Given the description of an element on the screen output the (x, y) to click on. 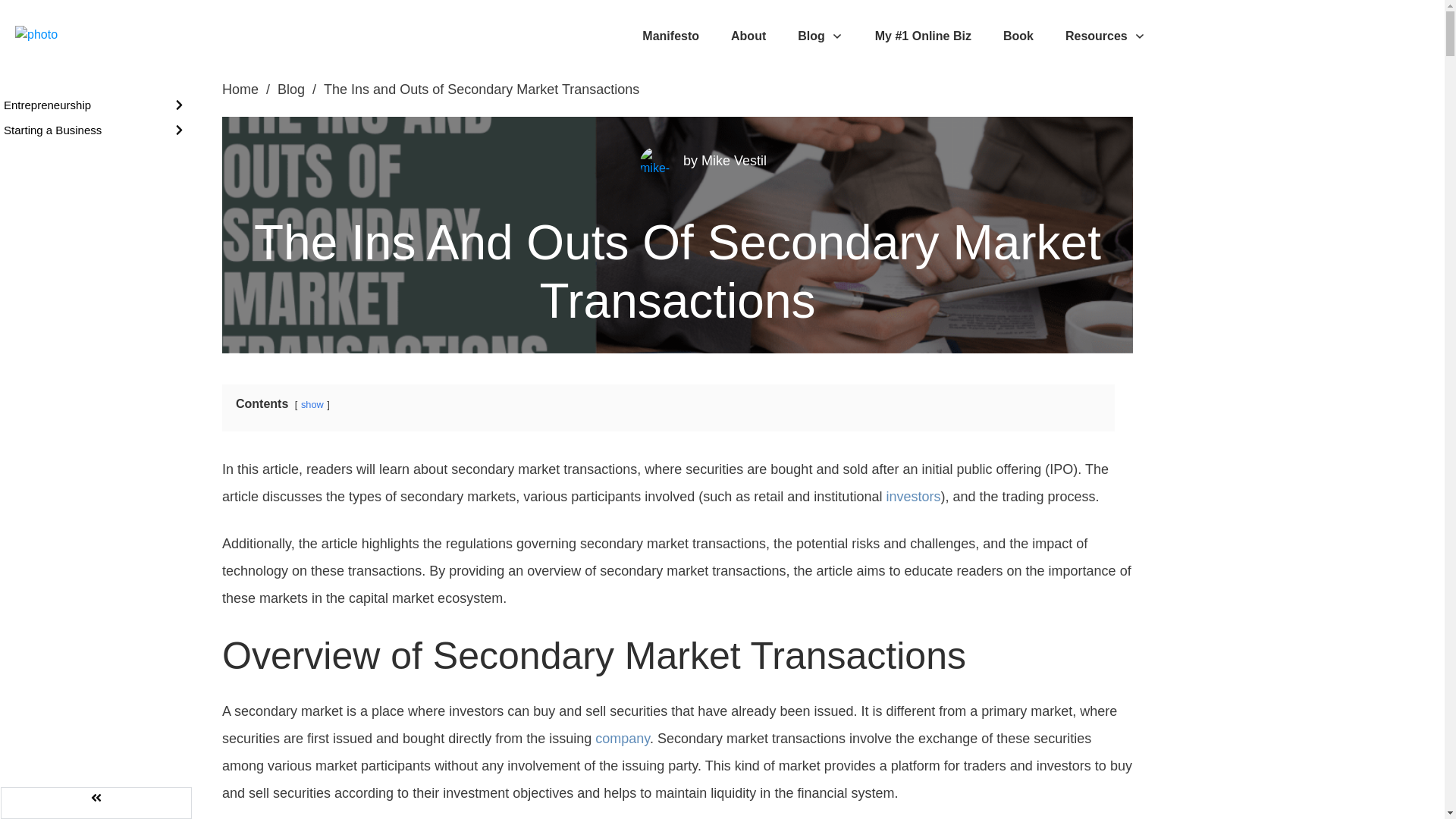
Blog (820, 36)
Manifesto (670, 36)
mike-vestil-blog (655, 163)
Resources (1105, 36)
Investor (912, 496)
About (747, 36)
Book (1018, 36)
